Given the description of an element on the screen output the (x, y) to click on. 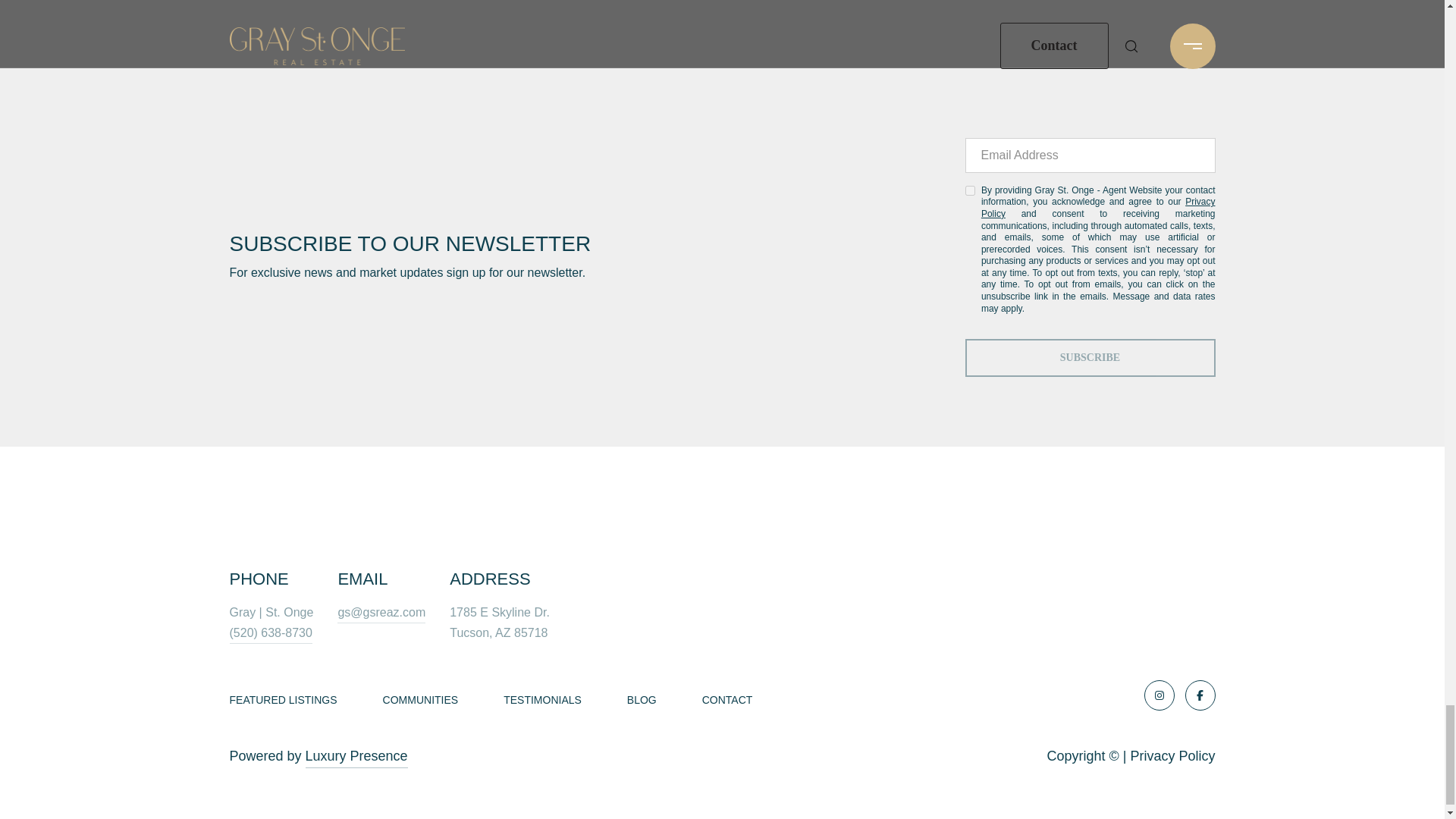
on (968, 190)
